Given the description of an element on the screen output the (x, y) to click on. 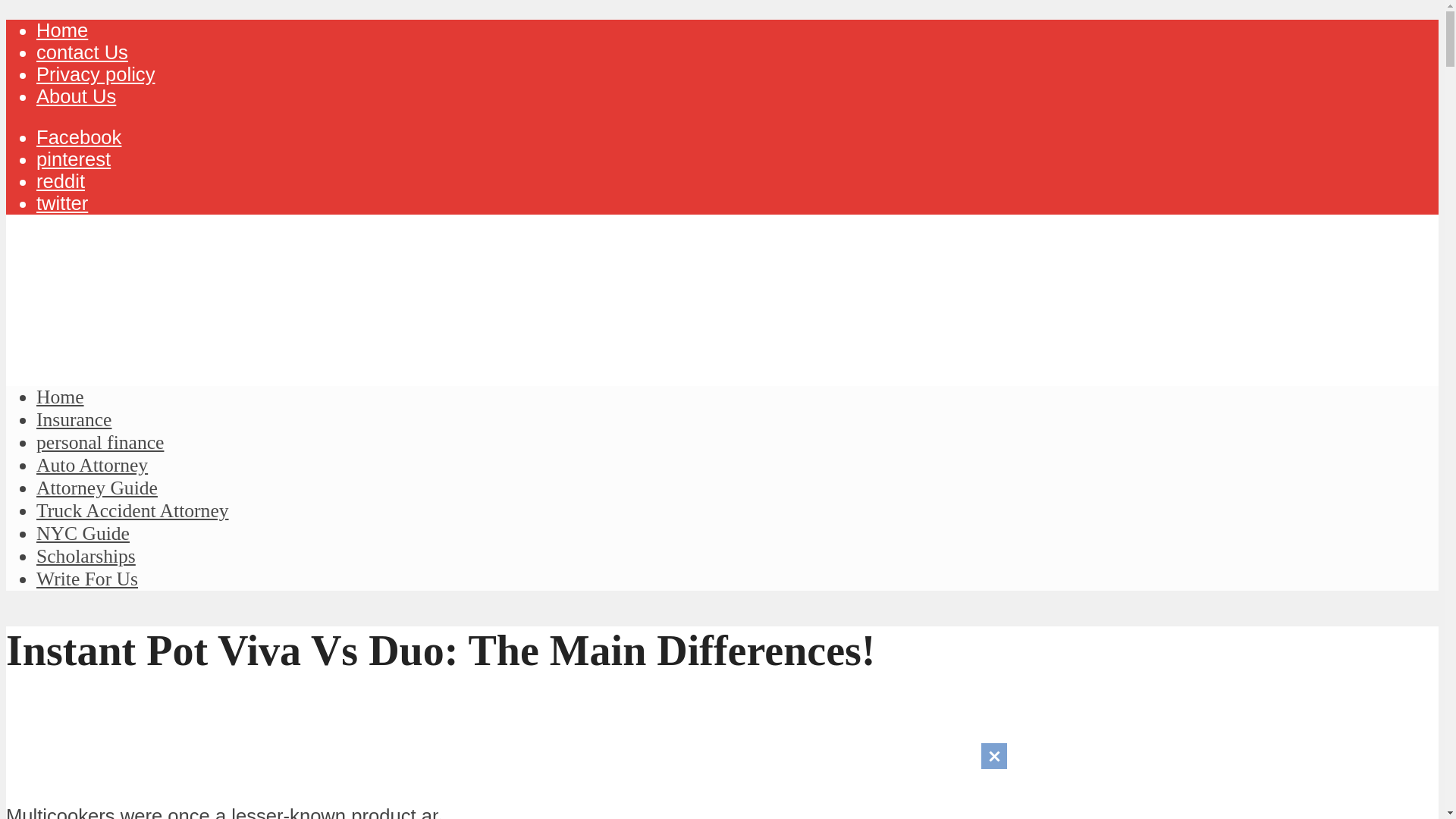
Attorney Guide (96, 487)
Insurance (74, 419)
Home (61, 29)
Truck Accident Attorney (132, 510)
contact Us (82, 52)
Privacy policy (95, 74)
Write For Us (87, 578)
Auto Attorney (92, 464)
pinterest (73, 158)
NYC Guide (82, 533)
